Given the description of an element on the screen output the (x, y) to click on. 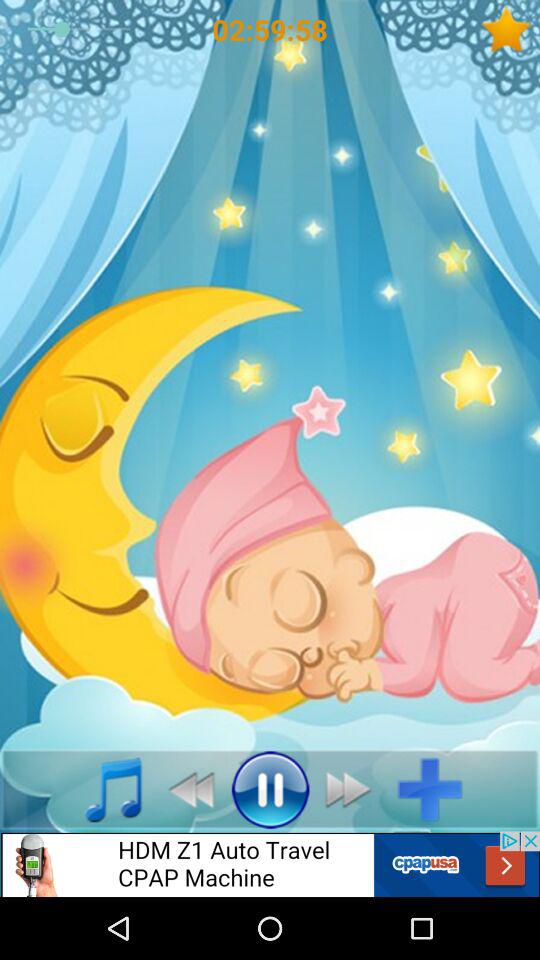
choose other melodie (102, 789)
